Given the description of an element on the screen output the (x, y) to click on. 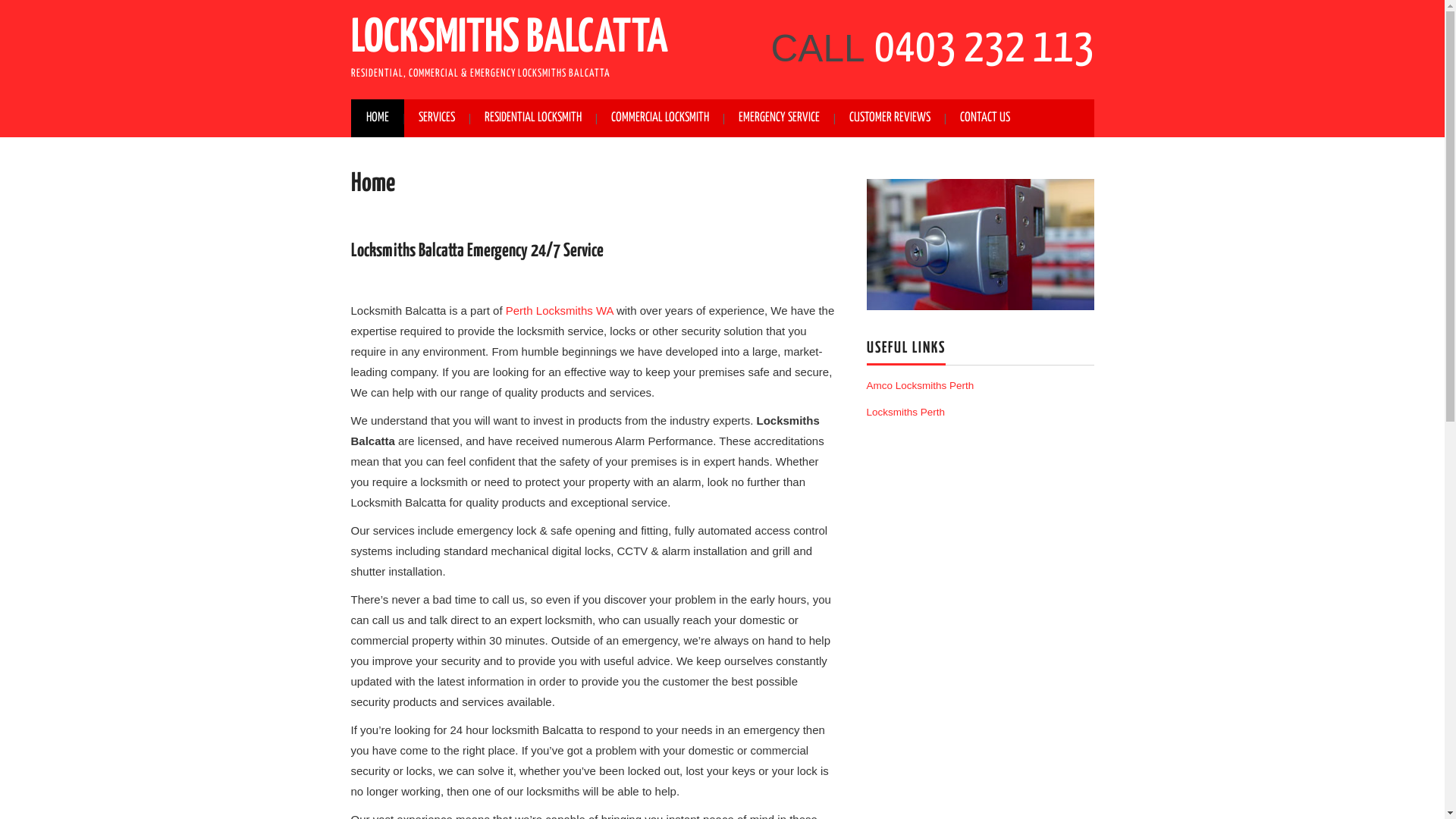
RESIDENTIAL LOCKSMITH Element type: text (532, 118)
Perth Locksmiths WA Element type: text (559, 310)
CUSTOMER REVIEWS Element type: text (889, 118)
Locksmiths Perth Element type: text (905, 411)
COMMERCIAL LOCKSMITH Element type: text (660, 118)
CONTACT US Element type: text (984, 118)
Amco Locksmiths Perth Element type: text (919, 385)
SERVICES Element type: text (436, 118)
LOCKSMITHS BALCATTA Element type: text (508, 38)
EMERGENCY SERVICE Element type: text (778, 118)
0403 232 113 Element type: text (983, 48)
HOME Element type: text (376, 118)
